Given the description of an element on the screen output the (x, y) to click on. 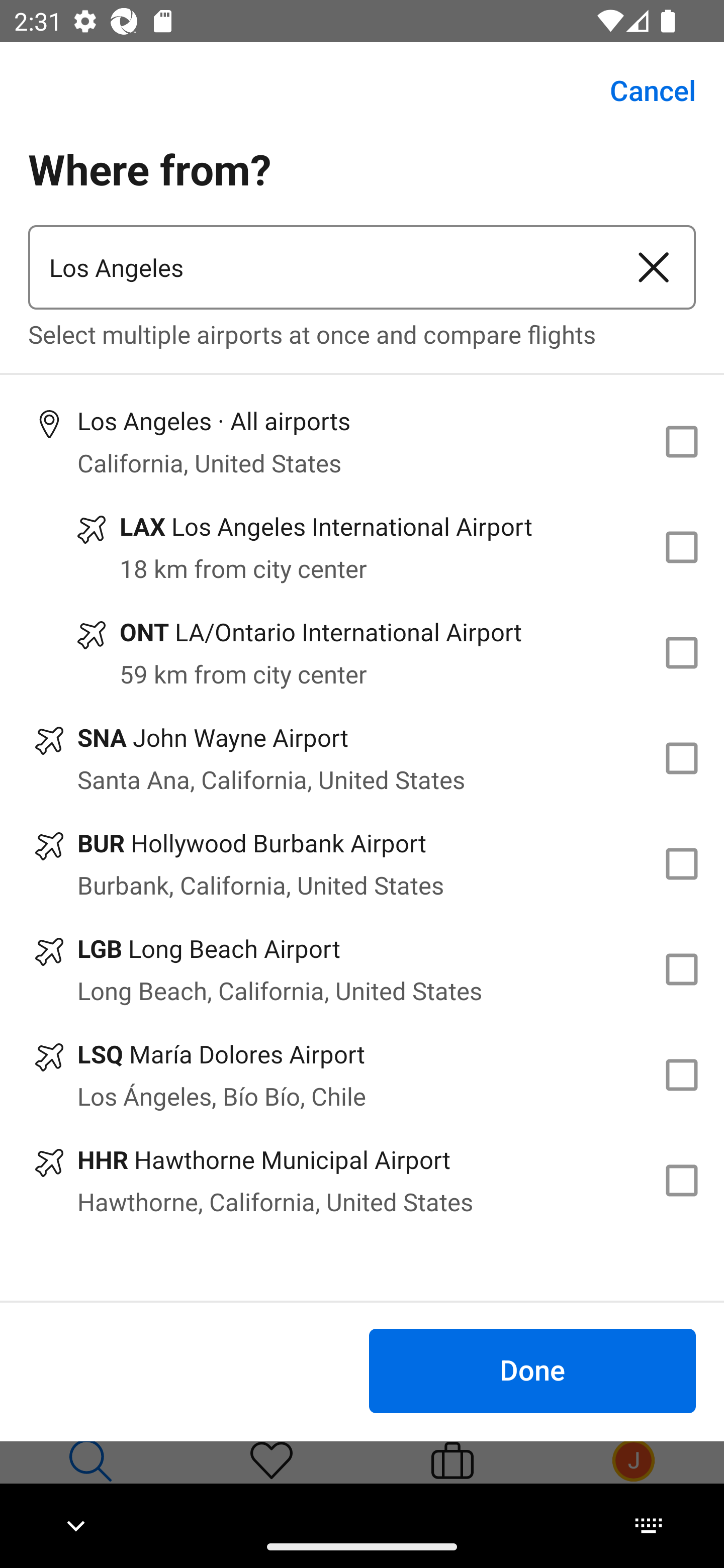
Cancel (641, 90)
Los Angeles (319, 266)
Clear airport or city (653, 266)
Done (532, 1370)
